Given the description of an element on the screen output the (x, y) to click on. 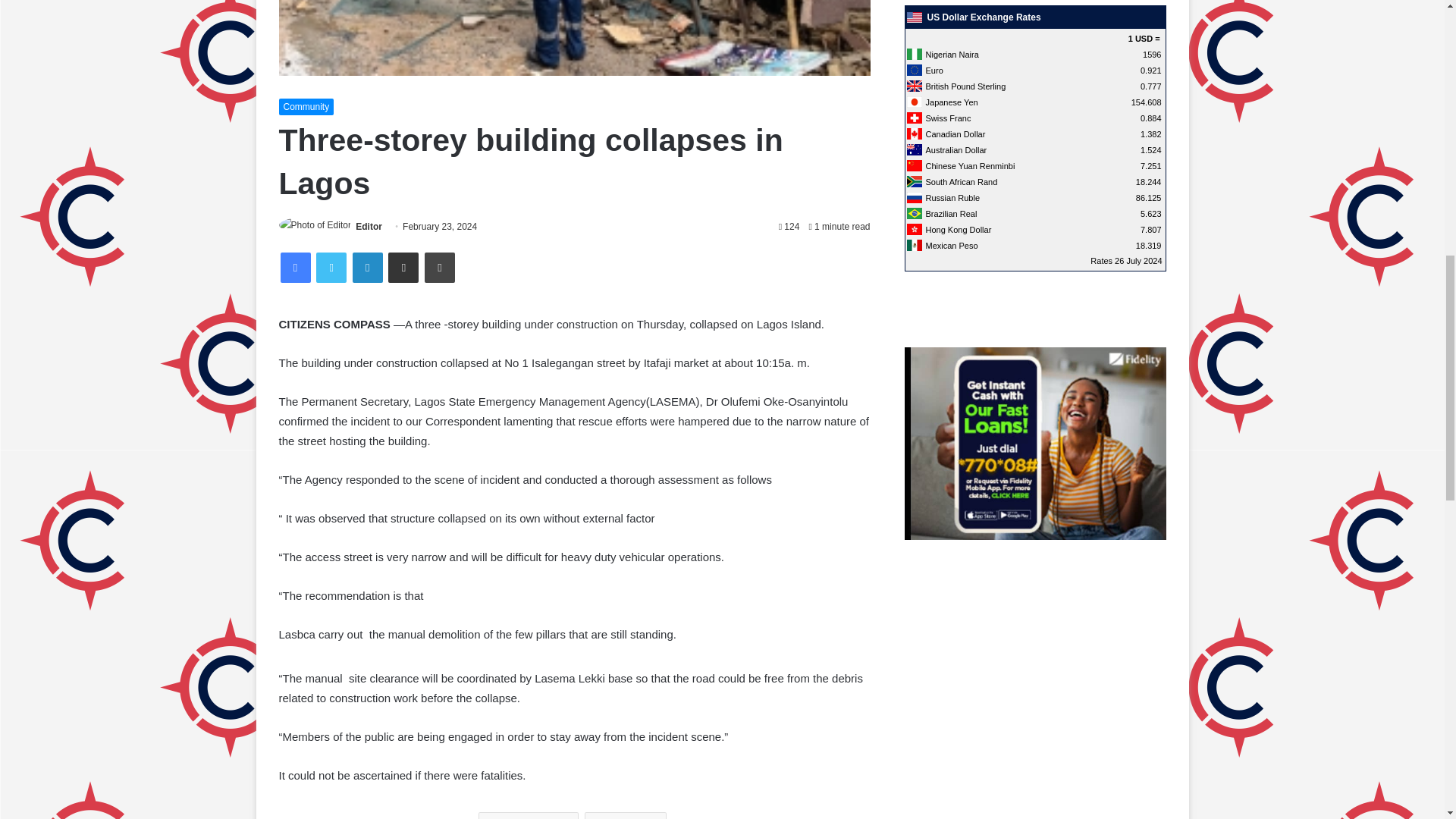
Editor (368, 226)
Print (439, 266)
Facebook (296, 266)
Facebook (296, 266)
Share via Email (403, 266)
Print (439, 266)
Share via Email (403, 266)
Twitter (330, 266)
LASEMA (625, 815)
Community (306, 106)
LinkedIn (367, 266)
Twitter (330, 266)
Lagos State (528, 815)
LinkedIn (367, 266)
Editor (368, 226)
